Given the description of an element on the screen output the (x, y) to click on. 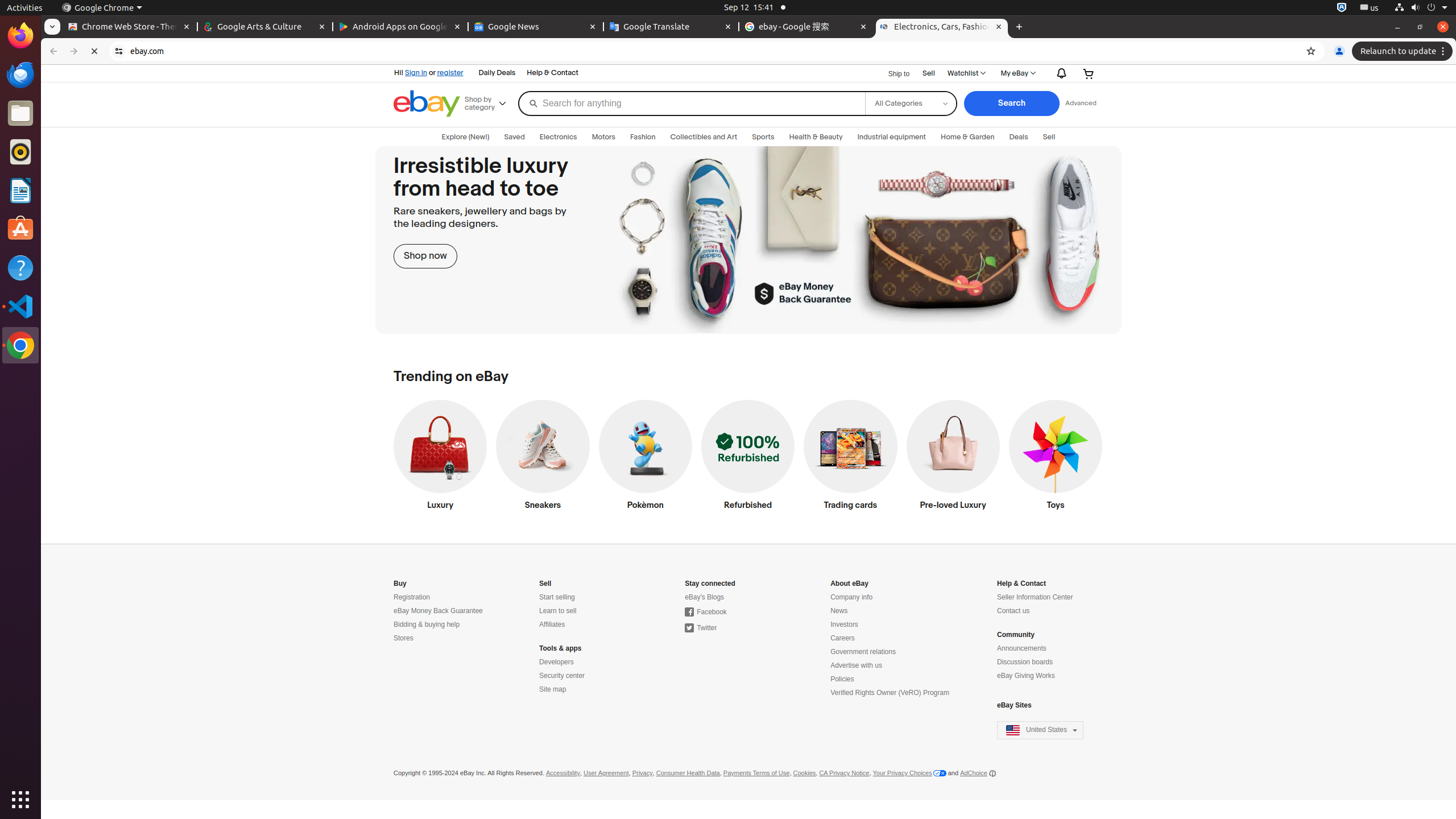
Firefox Web Browser Element type: push-button (20, 35)
Sneakers Element type: link (542, 457)
Help Element type: push-button (20, 267)
